Given the description of an element on the screen output the (x, y) to click on. 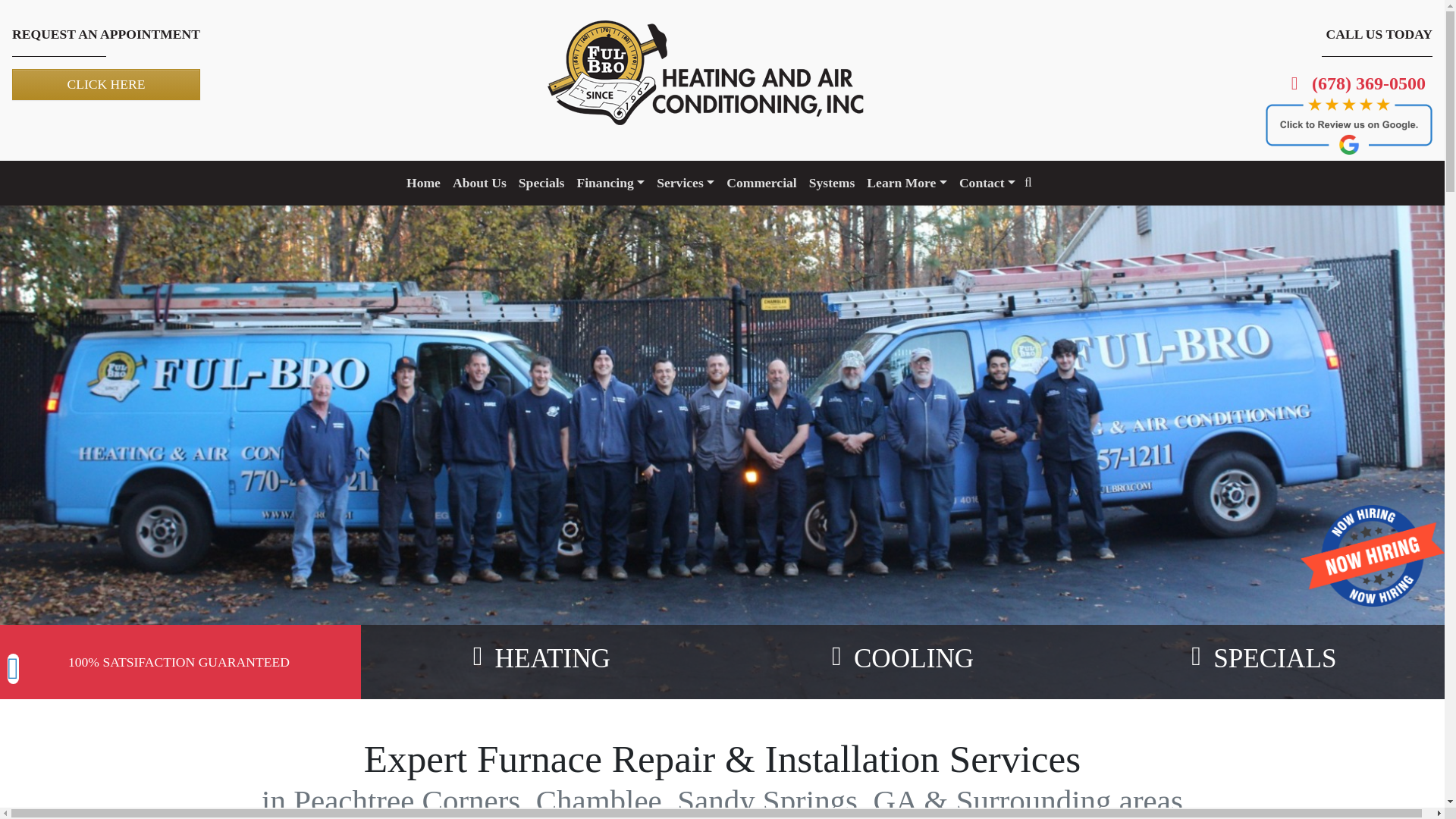
About Us (479, 183)
Commercial (761, 183)
Learn More (906, 183)
Home (423, 183)
CLICK HERE (105, 83)
Contact (987, 183)
Services (685, 183)
Systems (832, 183)
Specials (541, 183)
Financing (610, 183)
